Given the description of an element on the screen output the (x, y) to click on. 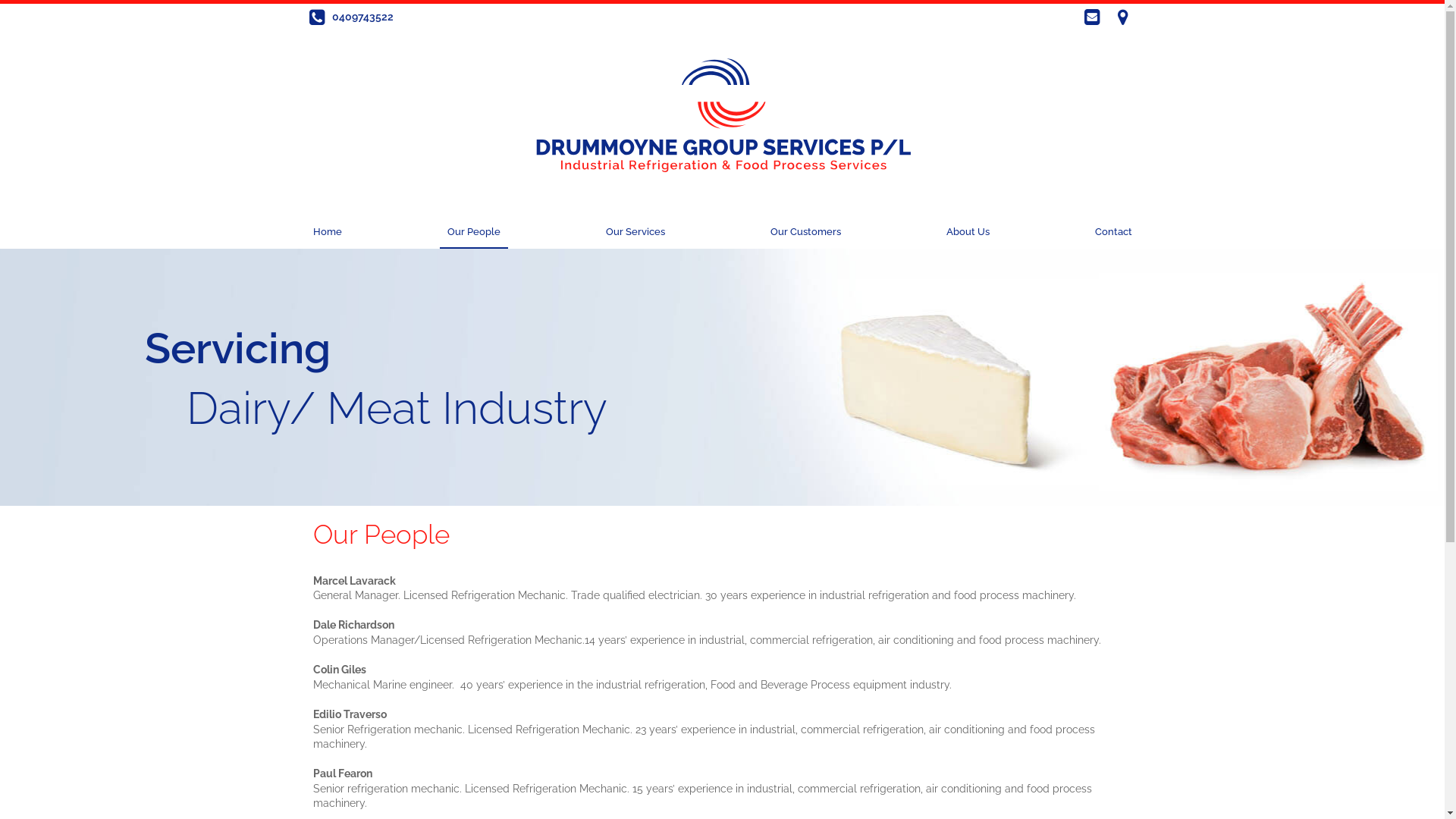
Our Customers Element type: text (805, 232)
Contact Element type: text (1113, 232)
Home Element type: text (326, 232)
Our People Element type: text (473, 232)
Our Services Element type: text (634, 232)
About Us Element type: text (967, 232)
